Given the description of an element on the screen output the (x, y) to click on. 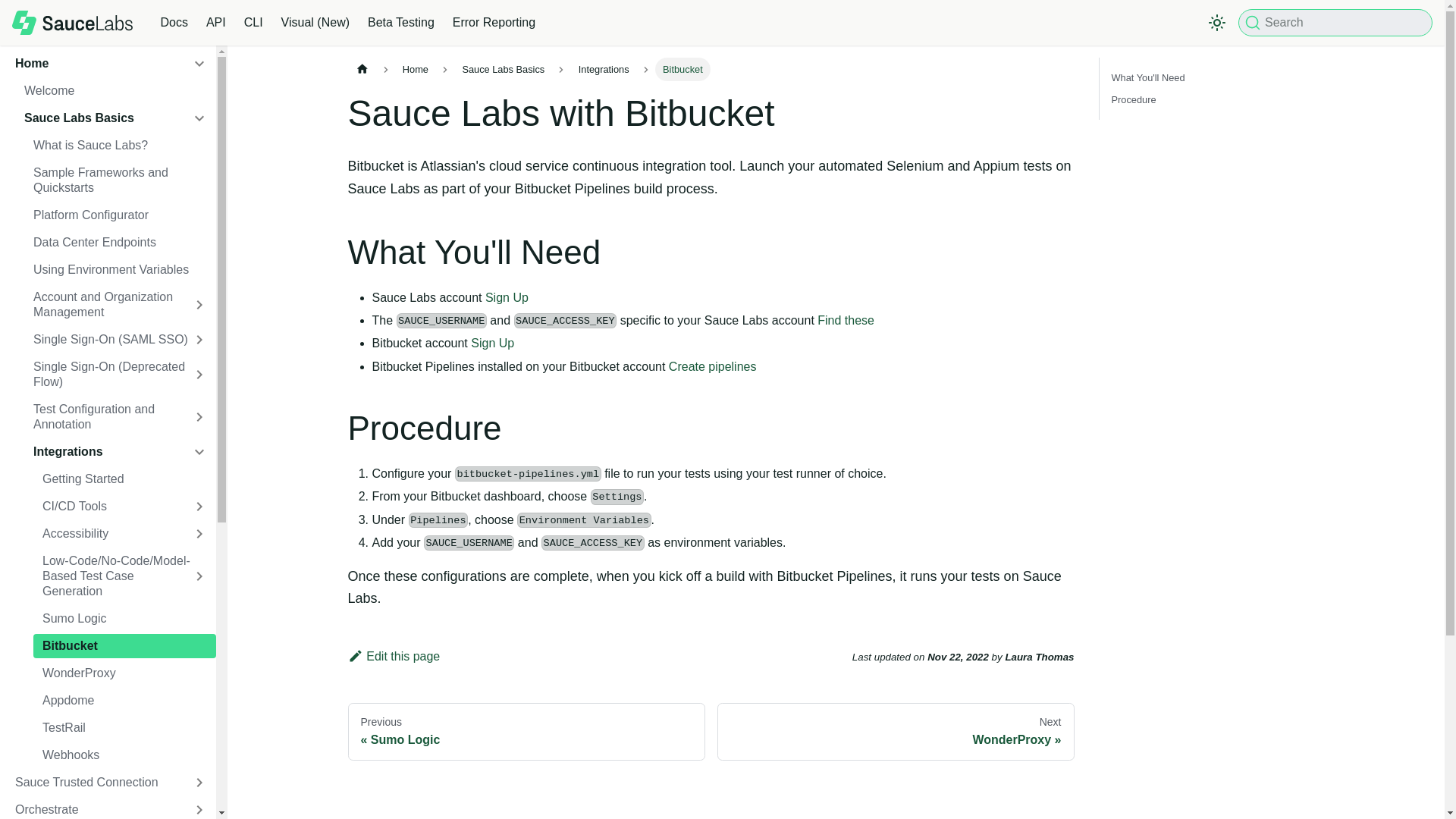
Integrations (119, 451)
Orchestrate (110, 808)
Error Reporting (494, 22)
API (215, 22)
Test Configuration and Annotation (119, 416)
Sauce Labs Basics (114, 118)
Using Environment Variables (119, 269)
Webhooks (124, 754)
Search (1335, 22)
Accessibility (124, 533)
